Given the description of an element on the screen output the (x, y) to click on. 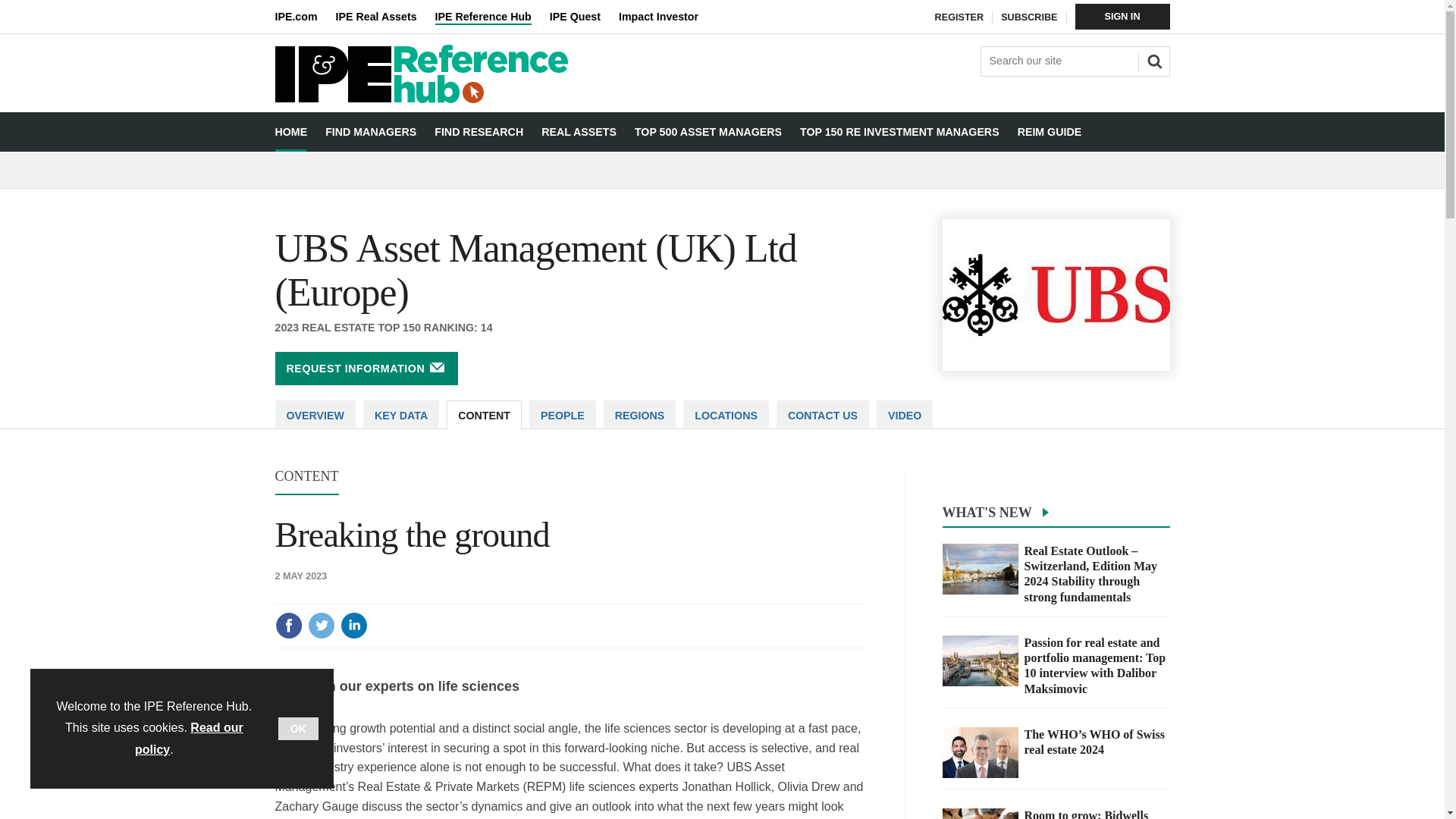
REGISTER (959, 17)
IPE Real Assets (384, 16)
IPE (304, 16)
SEARCH (1152, 59)
Share this on Linked in (352, 625)
Read our policy (189, 738)
SUBSCRIBE (1029, 17)
REQUEST INFORMATION (366, 368)
SIGN IN (1122, 16)
REAL ASSETS (579, 132)
IPE Quest (583, 16)
OK (298, 728)
REIM GUIDE (1049, 132)
FIND MANAGERS (370, 132)
TOP 150 RE INVESTMENT MANAGERS (899, 132)
